Given the description of an element on the screen output the (x, y) to click on. 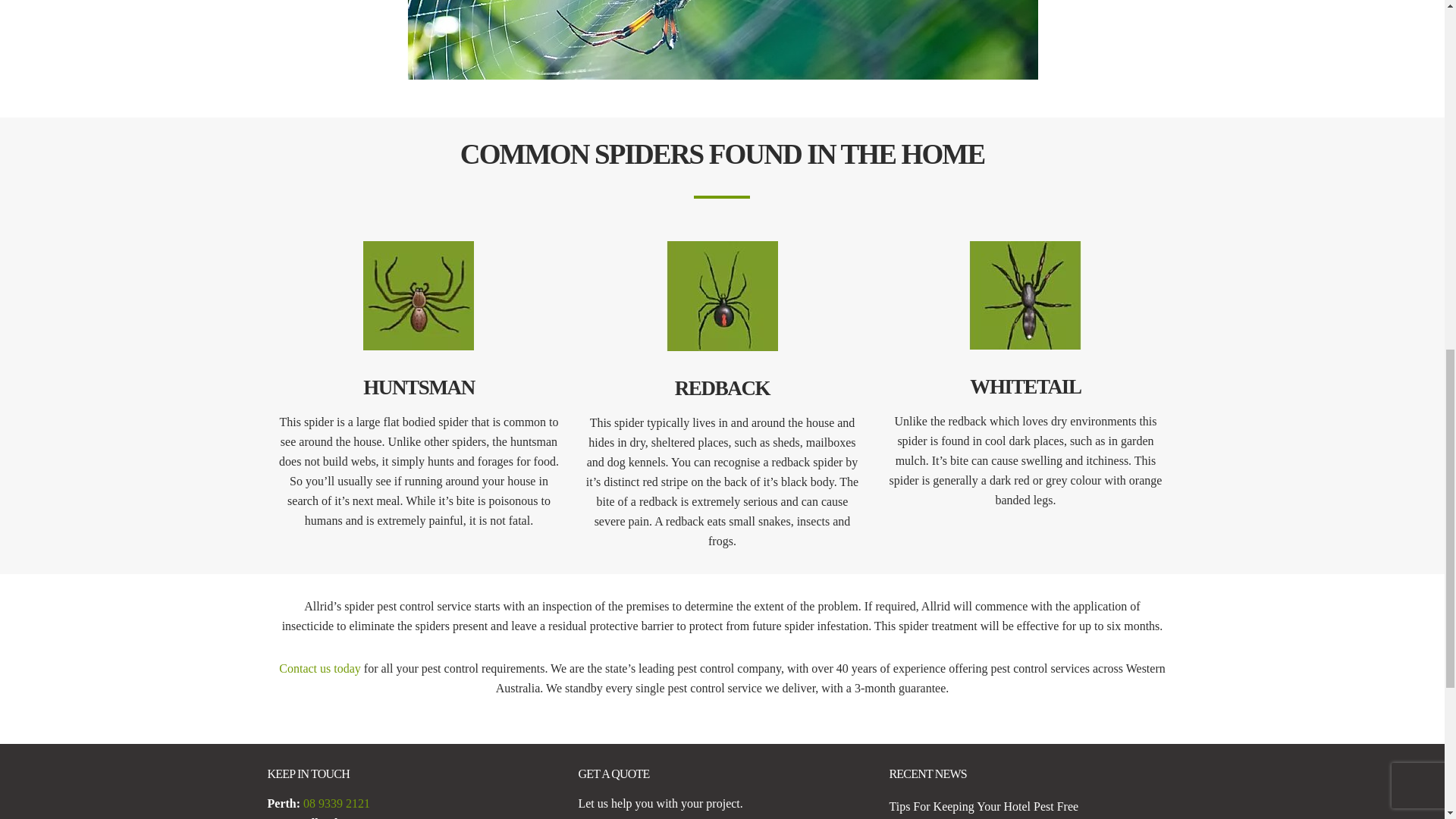
spiders1 (722, 39)
huntsman (418, 295)
redback (721, 295)
whitetail (1025, 294)
